Given the description of an element on the screen output the (x, y) to click on. 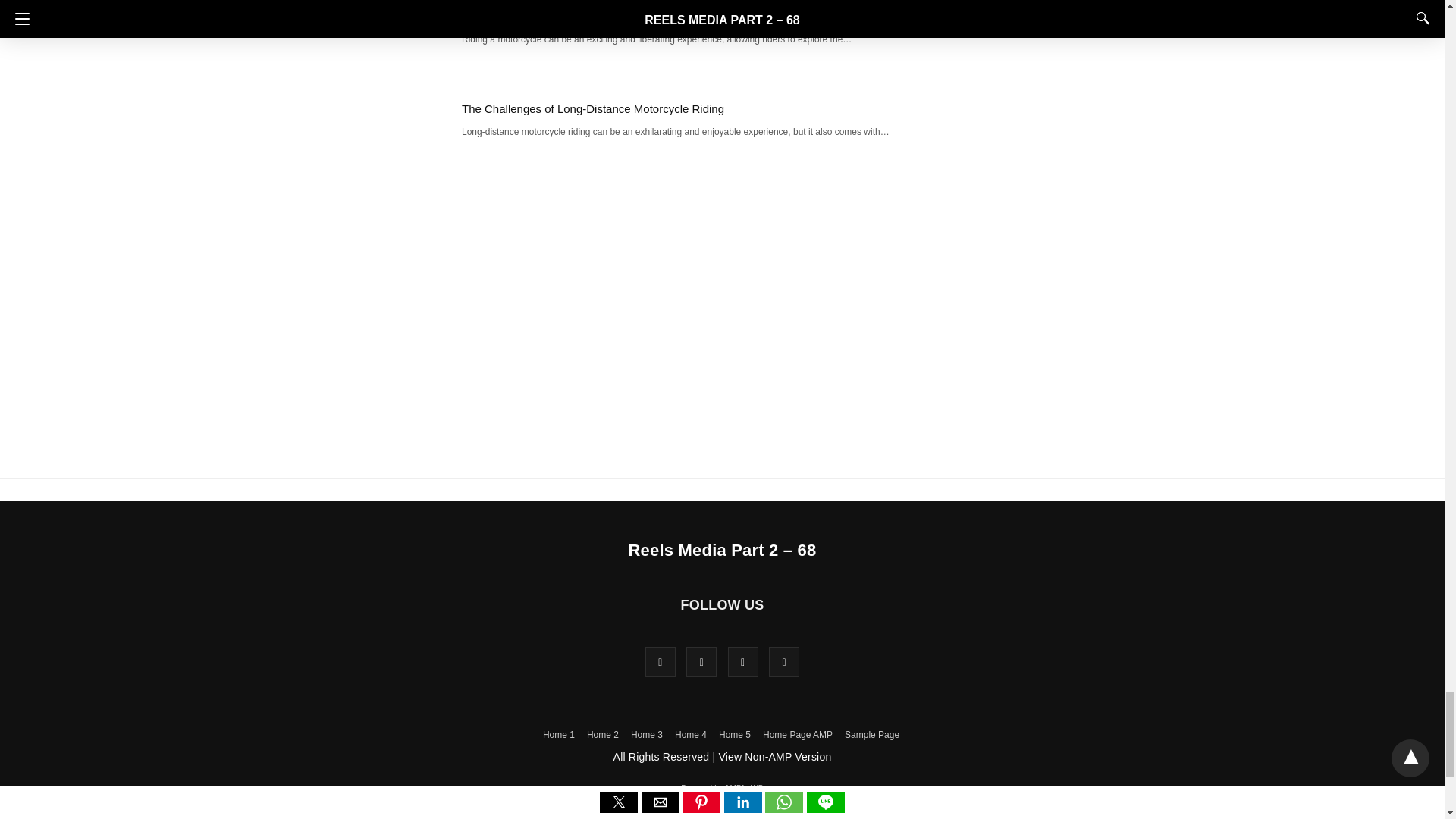
Home 3 (646, 734)
Home 2 (602, 734)
Home 1 (559, 734)
Home 4 (690, 734)
Sample Page (871, 734)
Powered by AMPforWP (721, 787)
Home 5 (735, 734)
The Challenges of Long-Distance Motorcycle Riding (592, 108)
View Non-AMP Version (774, 756)
Home Page AMP (797, 734)
